Given the description of an element on the screen output the (x, y) to click on. 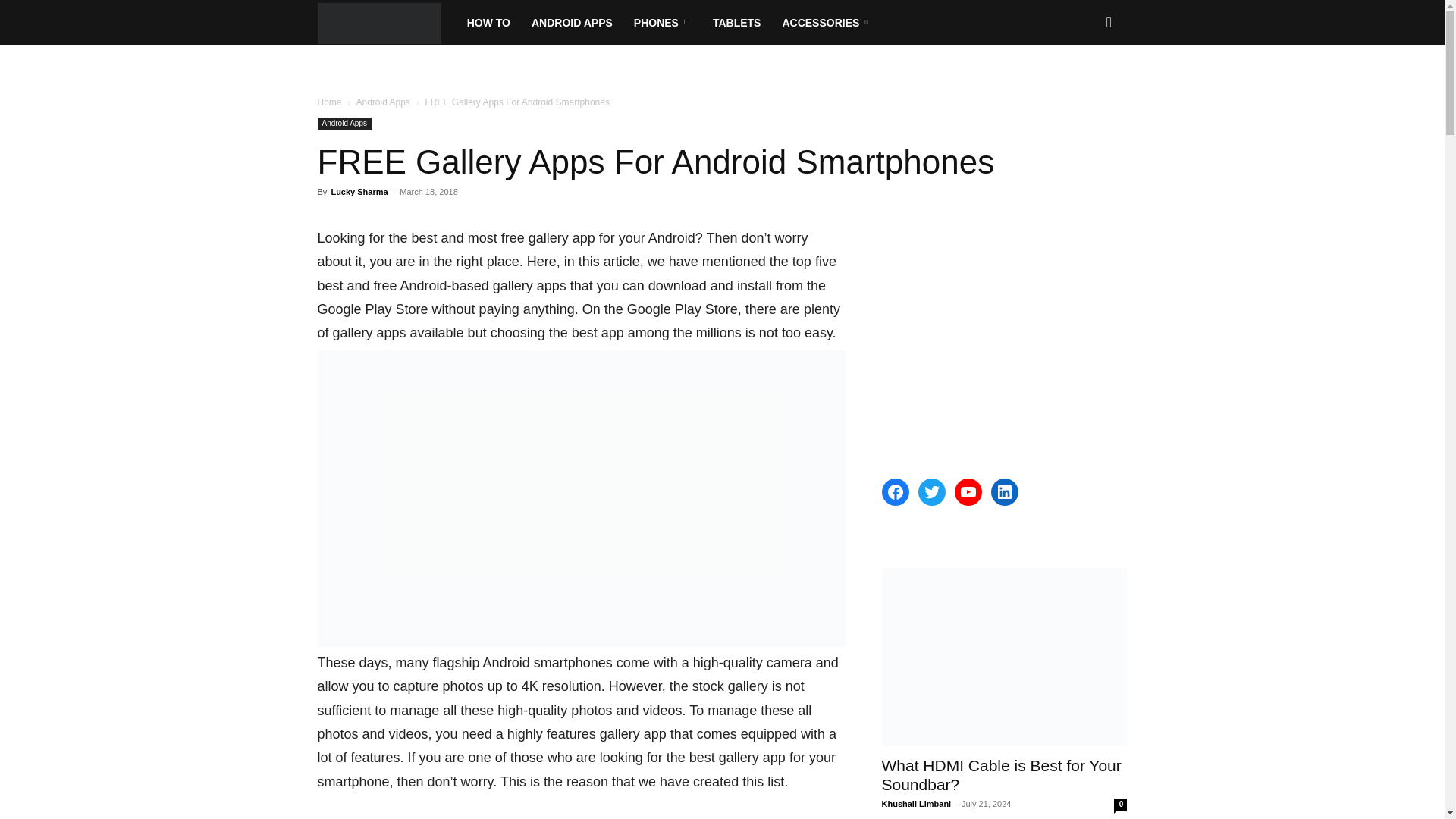
ANDROID APPS (572, 22)
View all posts in Android Apps (382, 102)
TheAndroidPortal (386, 22)
ACCESSORIES (826, 22)
Theandroidportal Logo (379, 22)
HOW TO (489, 22)
TABLETS (736, 22)
PHONES (662, 22)
